Given the description of an element on the screen output the (x, y) to click on. 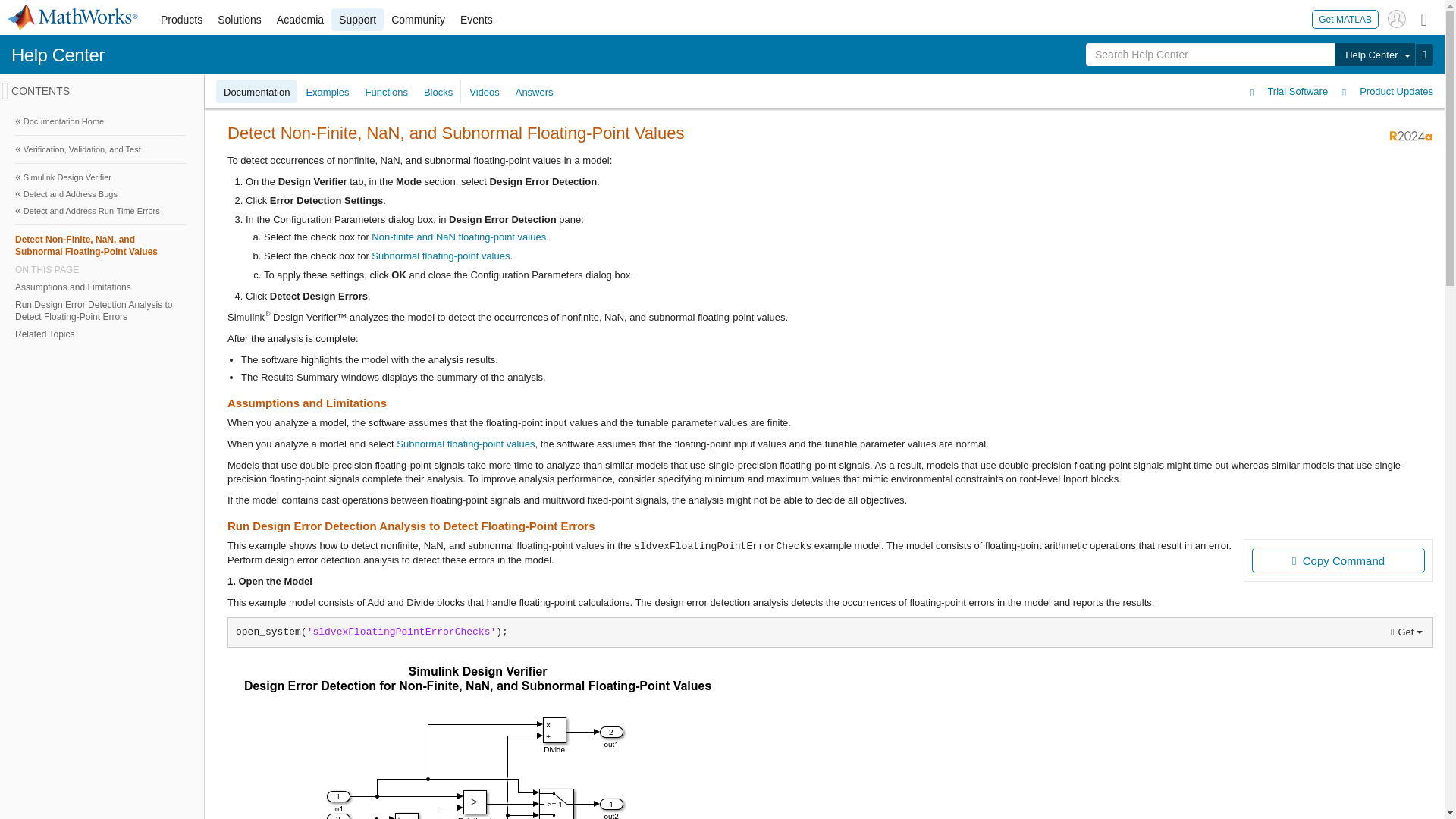
Academia (300, 19)
ON THIS PAGE (100, 269)
Matrix Menu (1423, 18)
Products (180, 19)
Sign In to Your MathWorks Account (1396, 18)
Events (476, 19)
Get MATLAB (1344, 18)
Support (357, 19)
Community (418, 19)
